Given the description of an element on the screen output the (x, y) to click on. 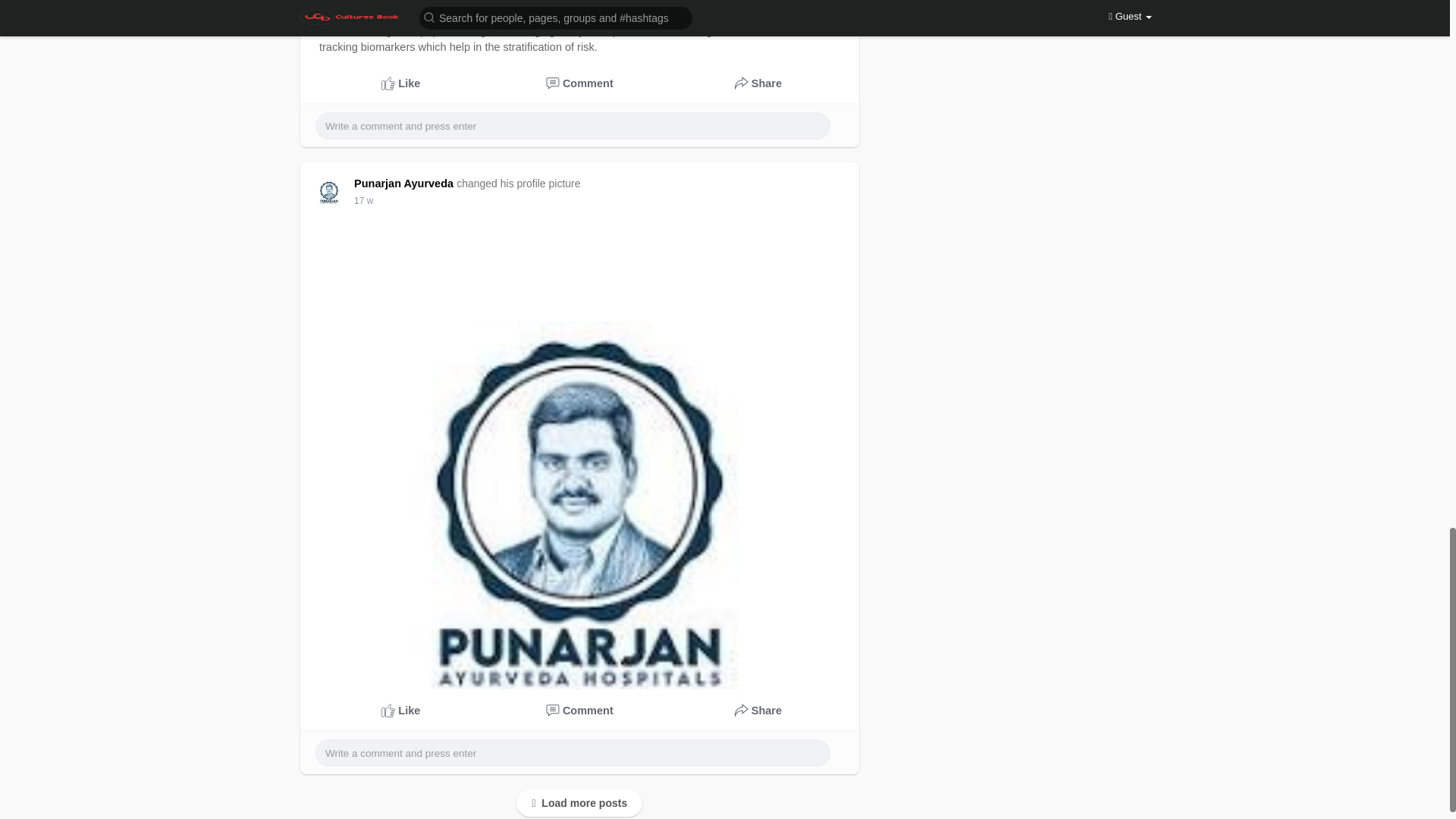
Comments (579, 710)
Share (757, 83)
Share (757, 710)
17 w (362, 200)
Comments (579, 83)
Punarjan Ayurveda (405, 183)
17 w (362, 200)
